Given the description of an element on the screen output the (x, y) to click on. 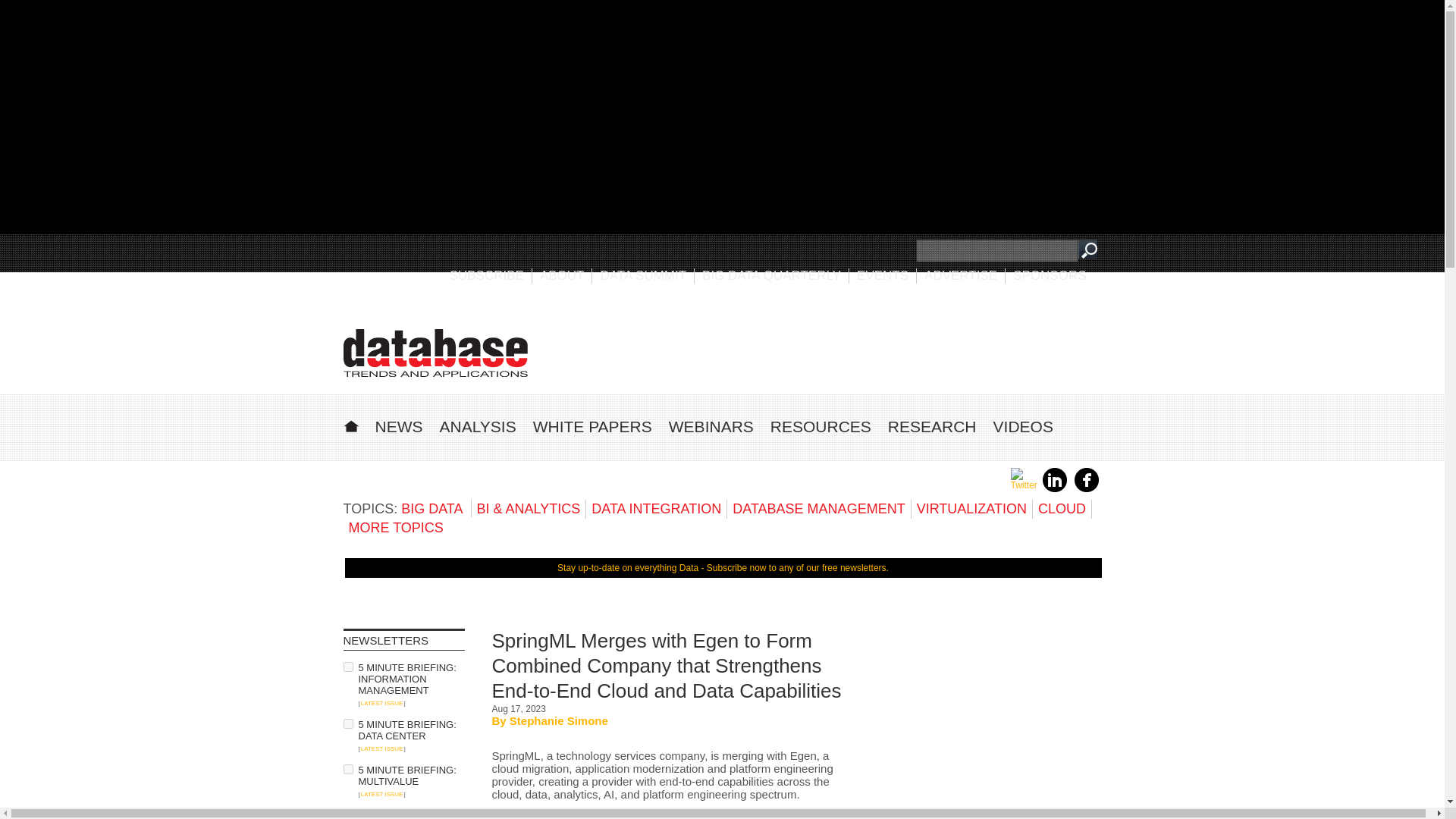
DBTA (434, 352)
on (347, 666)
DBTA on Twitter (1023, 484)
NEWS (398, 425)
on (347, 768)
DBTA (434, 352)
on (347, 723)
ANALYSIS (477, 425)
HOME (350, 424)
